Given the description of an element on the screen output the (x, y) to click on. 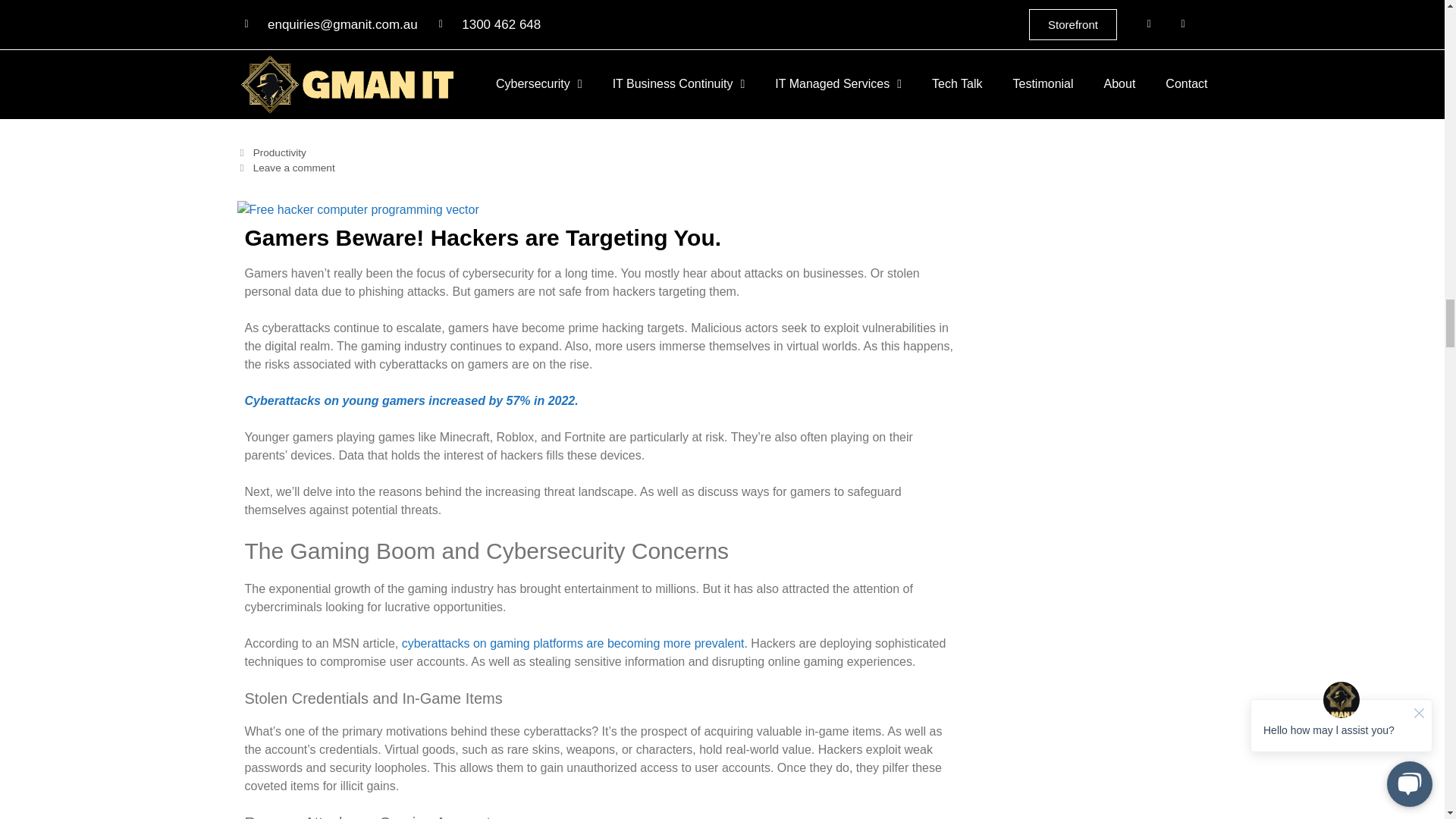
9 Tips for Setting Up AI Rules for Your Staff (608, 89)
